Given the description of an element on the screen output the (x, y) to click on. 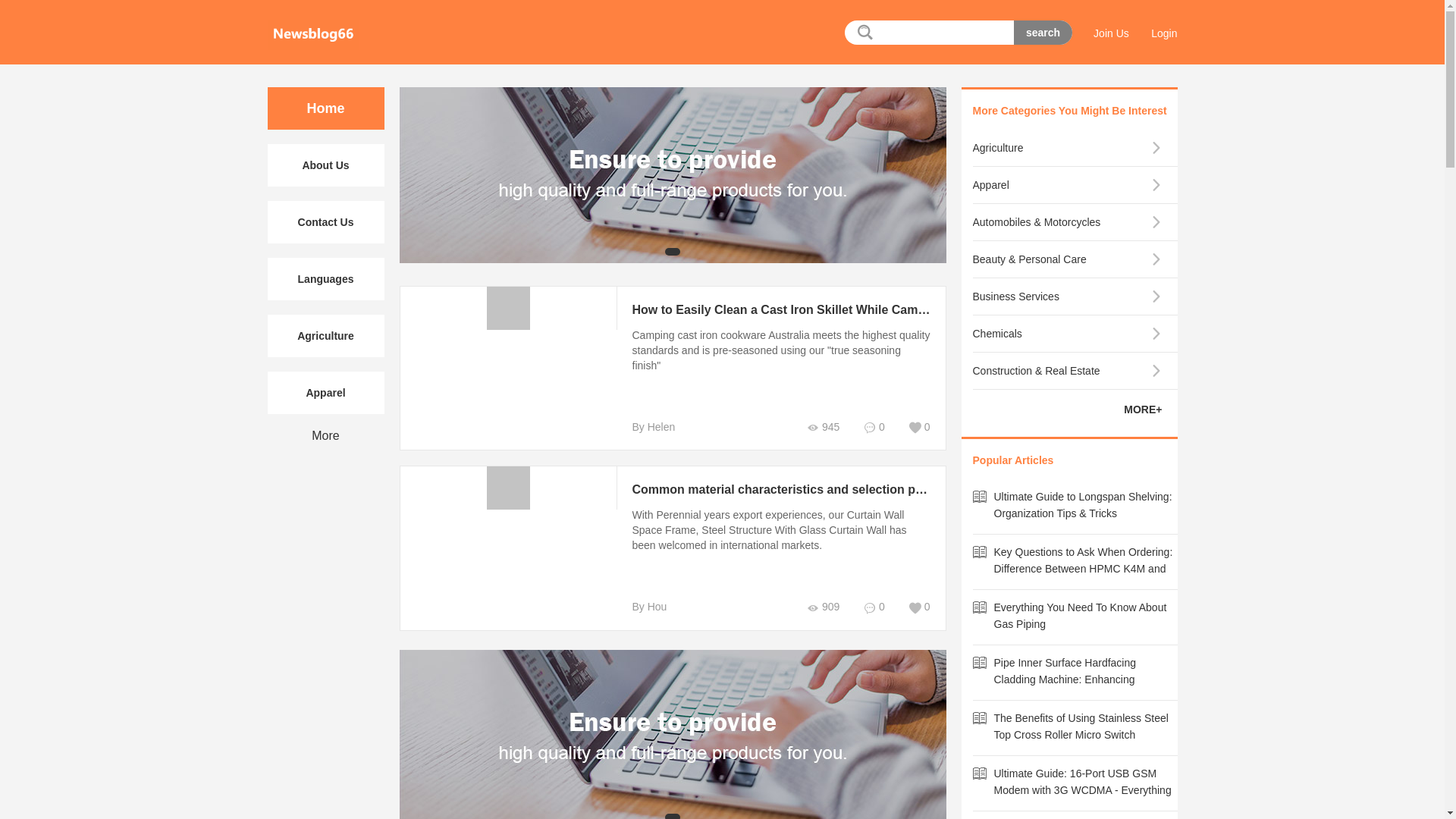
Join Us (1111, 33)
Home - newsblog66 (312, 34)
Login (1163, 33)
search (1042, 32)
search (1042, 32)
